Given the description of an element on the screen output the (x, y) to click on. 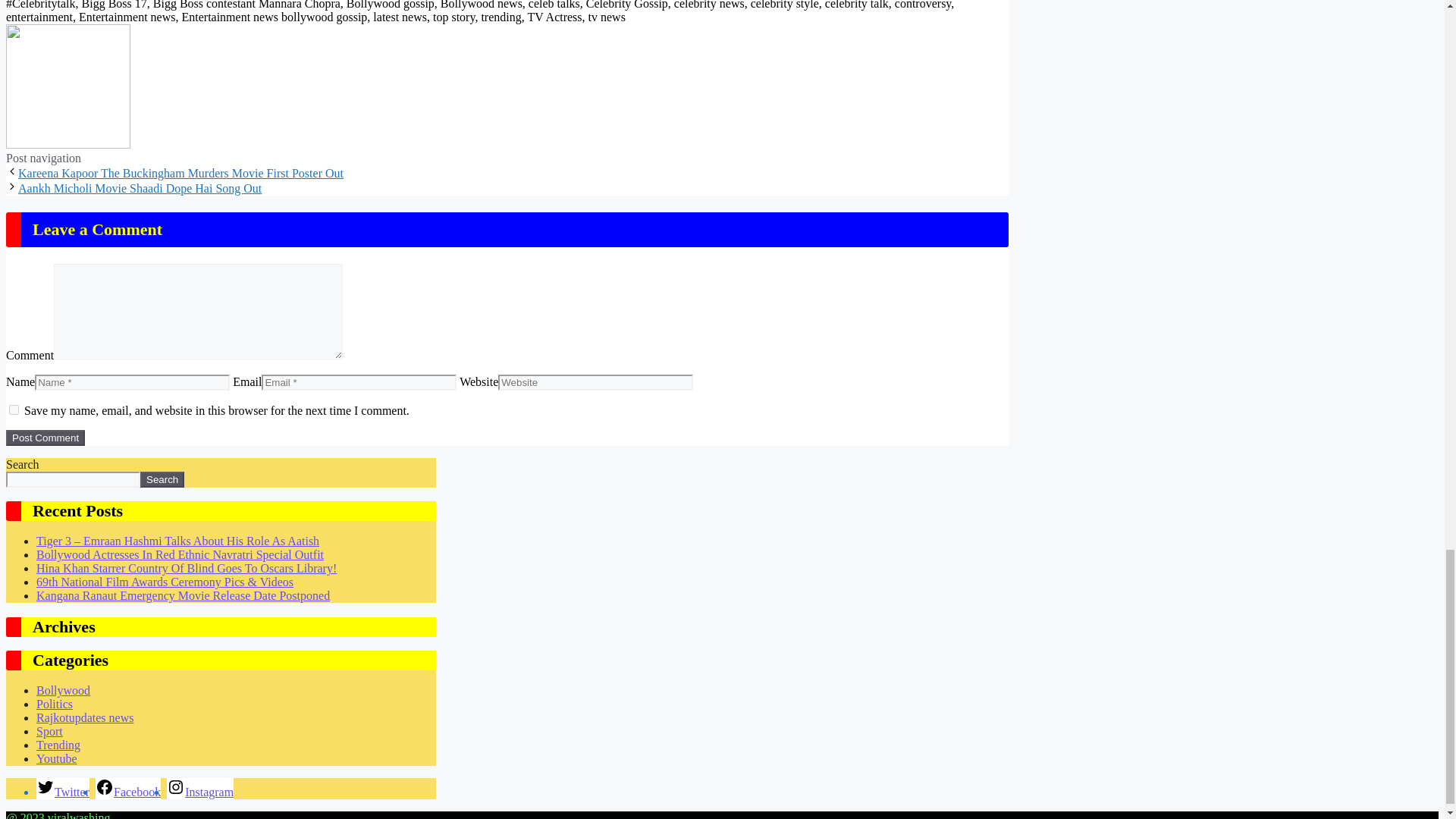
Previous (180, 173)
Next (139, 187)
yes (13, 409)
Post Comment (44, 437)
